Given the description of an element on the screen output the (x, y) to click on. 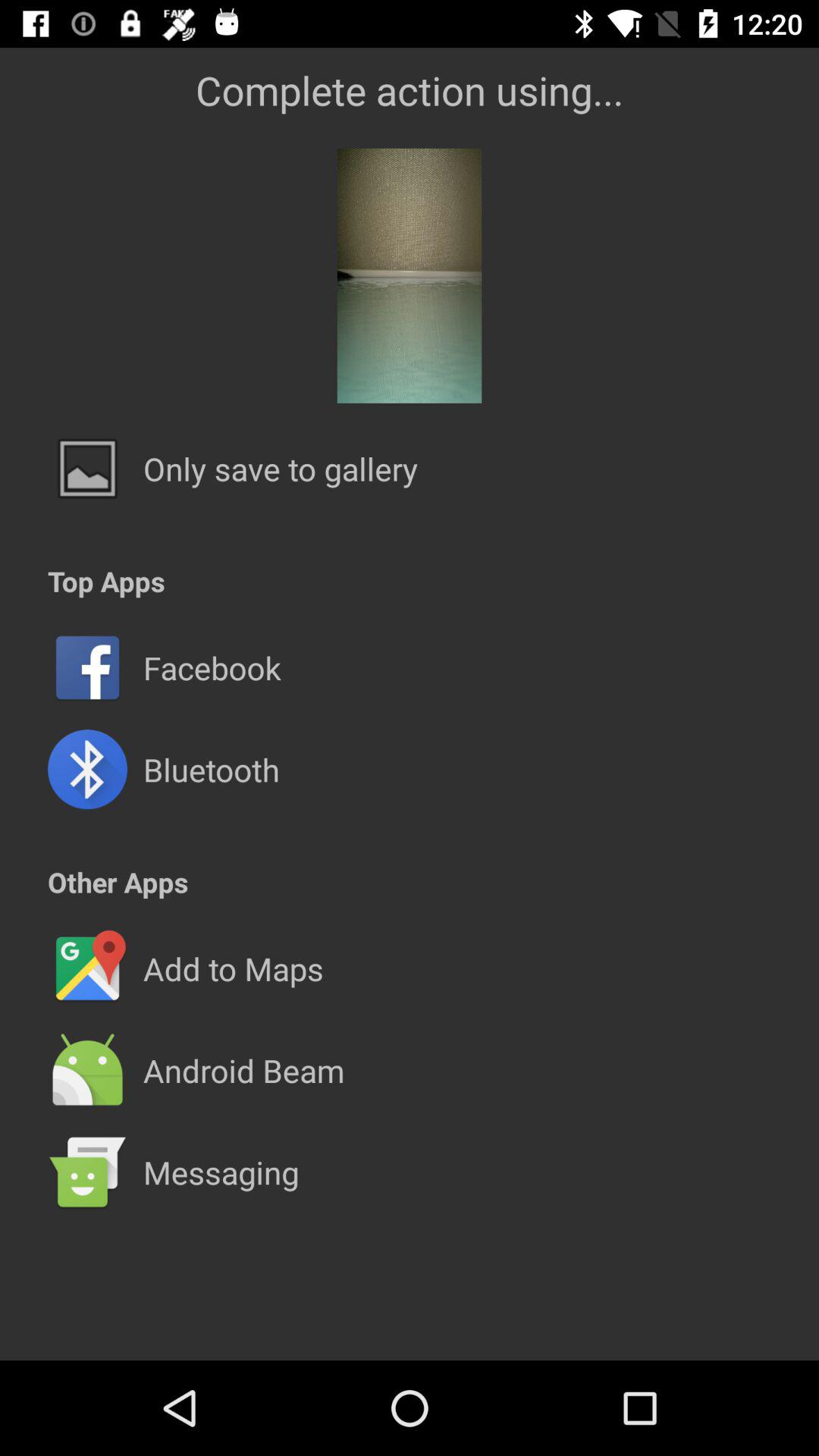
scroll to the android beam item (243, 1070)
